Given the description of an element on the screen output the (x, y) to click on. 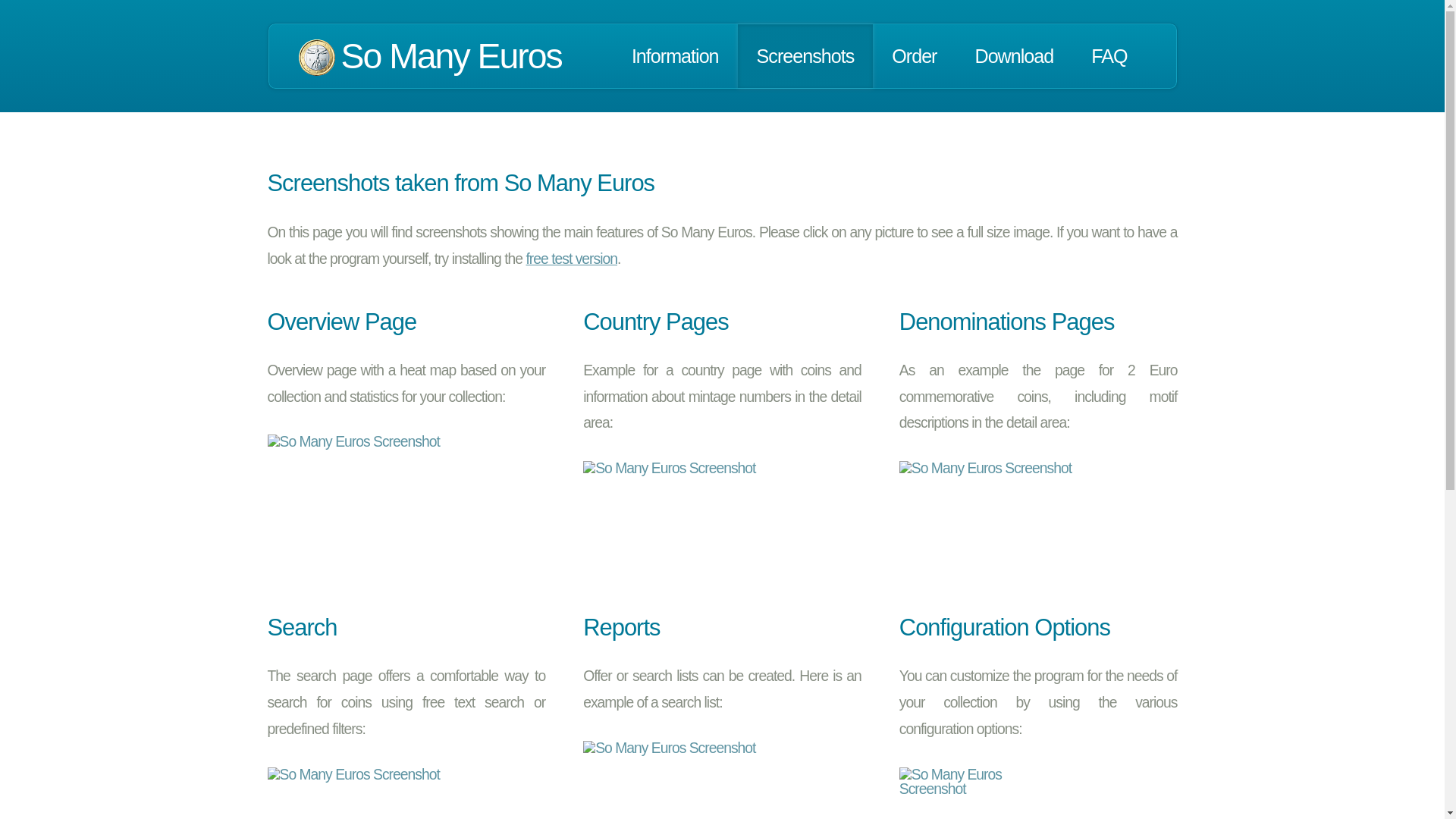
Download So Many Euros (571, 258)
Screenshots from So Many Euros (805, 55)
Information (675, 55)
Screenshots (805, 55)
Most frequently asked questions (1108, 55)
Order the latest program version (913, 55)
free test version (571, 258)
Download (1013, 55)
FAQ (1108, 55)
Information about So Many Euros (675, 55)
So Many Euros (451, 56)
Order (913, 55)
Download the latest program version (1013, 55)
